Given the description of an element on the screen output the (x, y) to click on. 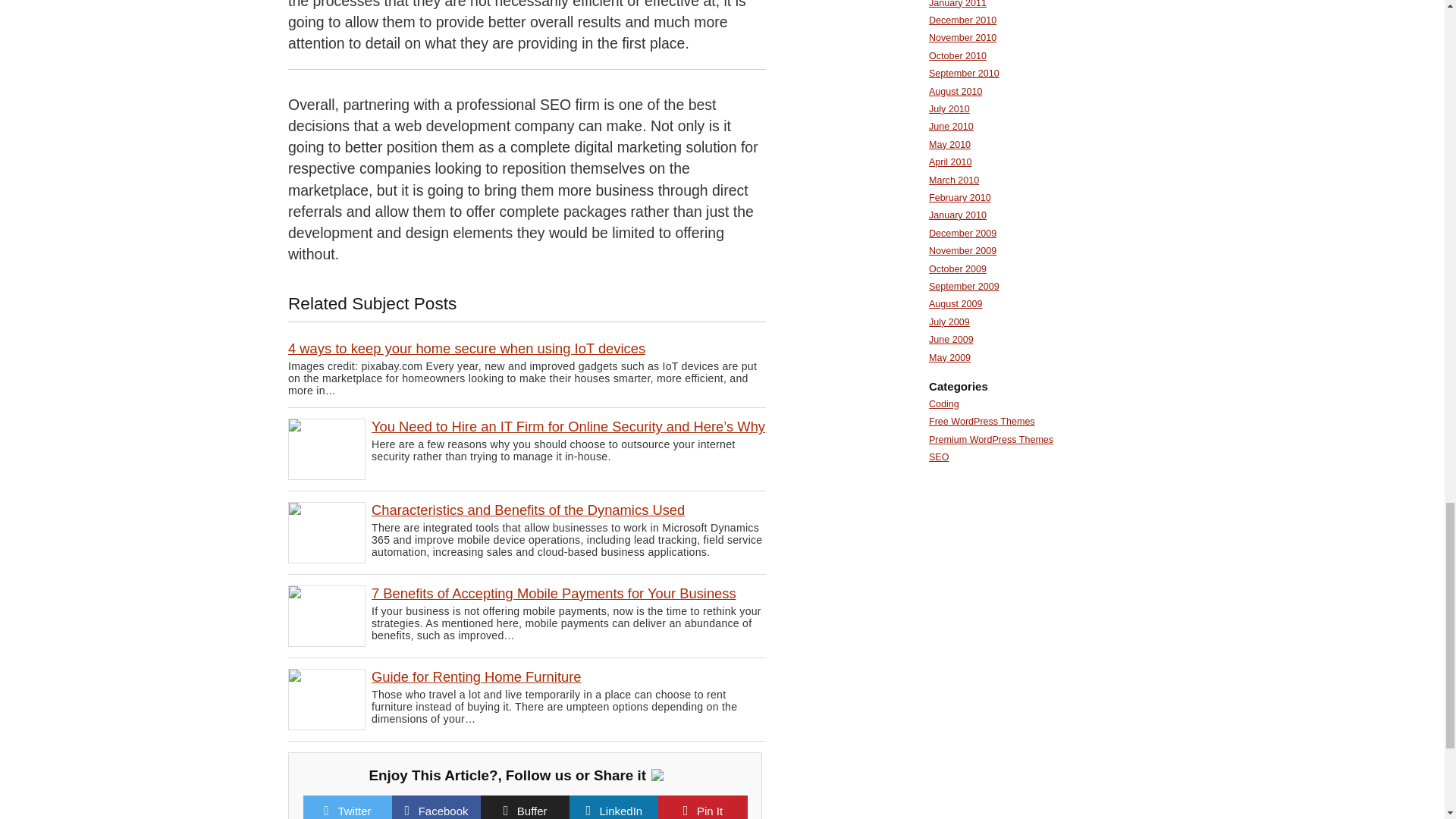
Buffer (531, 810)
4 ways to keep your home secure when using IoT devices (466, 348)
Twitter (354, 810)
Characteristics and Benefits of the Dynamics Used (527, 509)
Guide for Renting Home Furniture (475, 676)
7 Benefits of Accepting Mobile Payments for Your Business (553, 593)
4 ways to keep your home secure when using IoT devices (466, 348)
Facebook (443, 810)
